Given the description of an element on the screen output the (x, y) to click on. 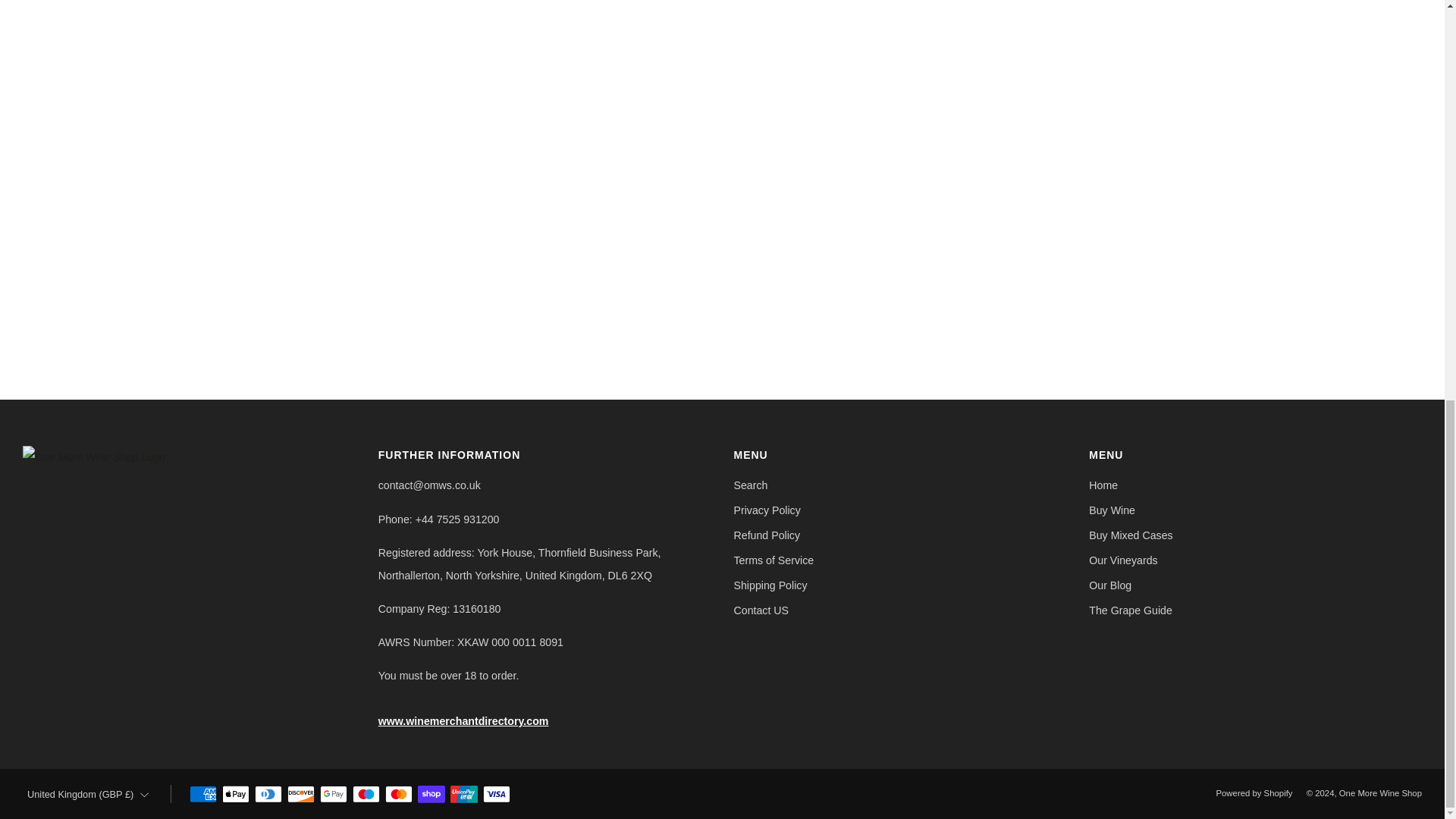
Discover (300, 794)
Google Pay (333, 794)
Apple Pay (235, 794)
Shop Pay (431, 794)
American Express (202, 794)
Diners Club (268, 794)
Maestro (366, 794)
Visa (497, 794)
Union Pay (463, 794)
Mastercard (398, 794)
